Given the description of an element on the screen output the (x, y) to click on. 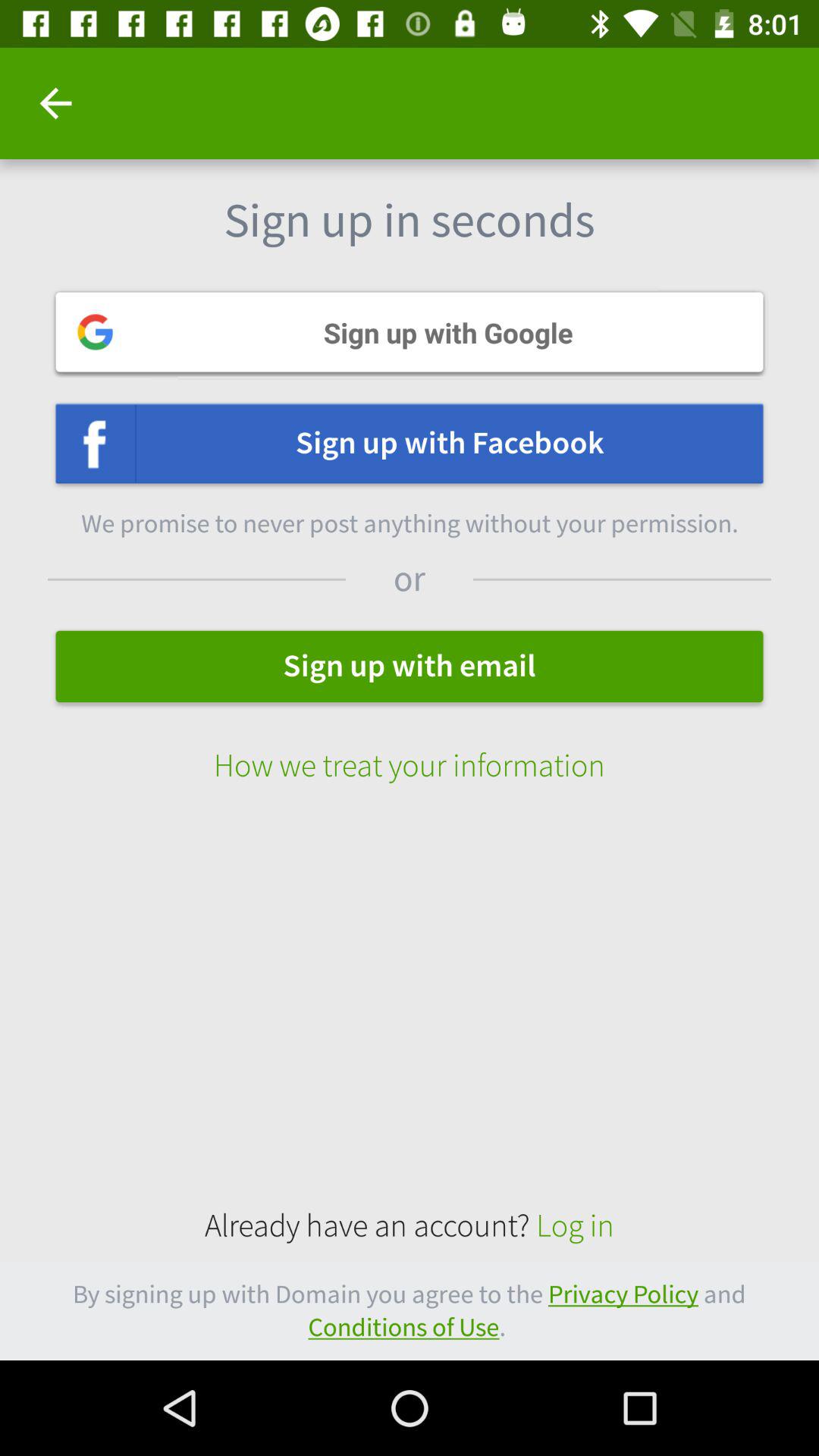
scroll until the already have an icon (409, 1226)
